Given the description of an element on the screen output the (x, y) to click on. 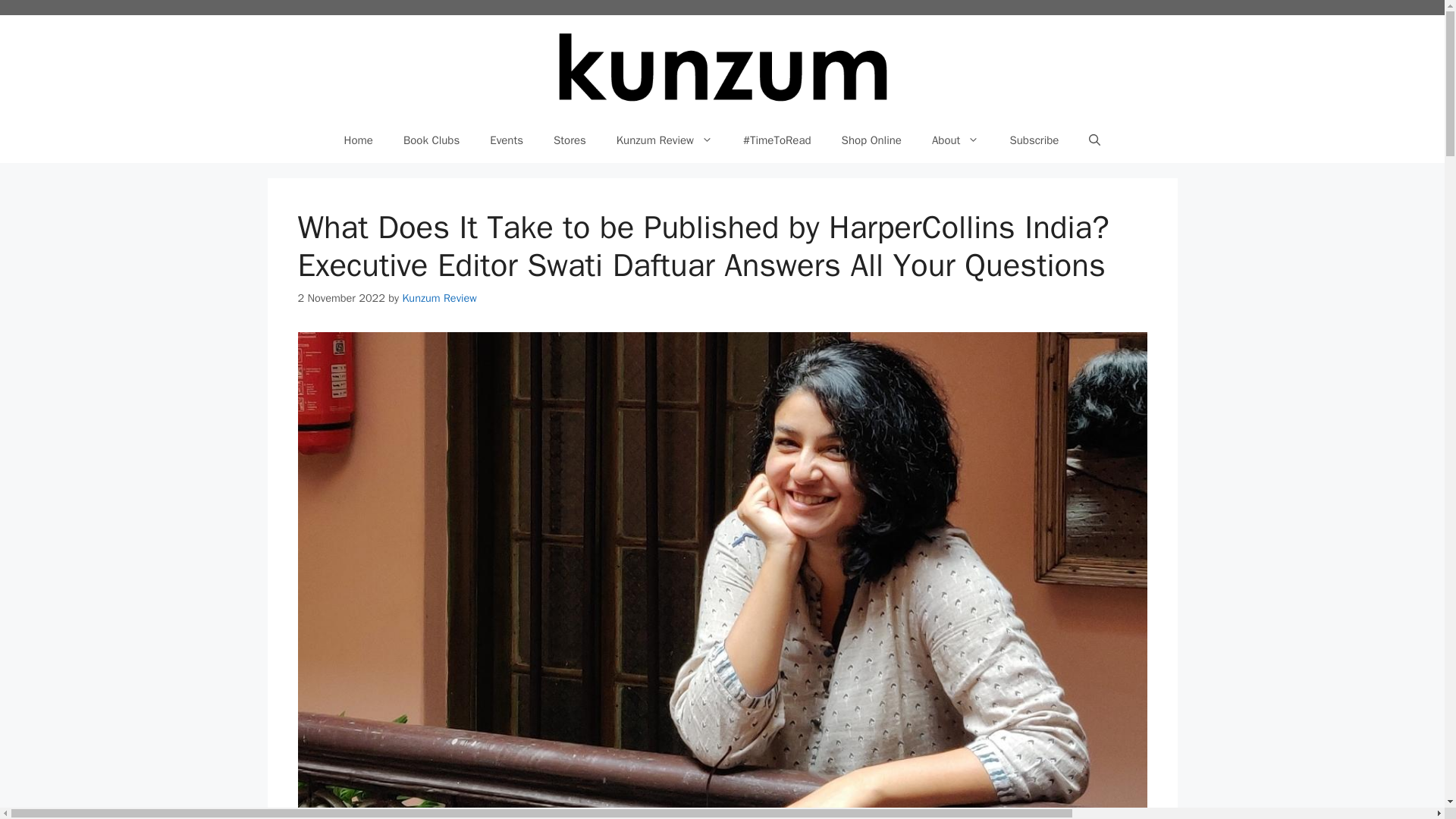
About (955, 139)
Shop Online (872, 139)
Kunzum Review (664, 139)
View all posts by Kunzum Review (438, 297)
Subscribe (1034, 139)
Home (358, 139)
Stores (569, 139)
Events (506, 139)
Book Clubs (431, 139)
Kunzum Review (438, 297)
